Given the description of an element on the screen output the (x, y) to click on. 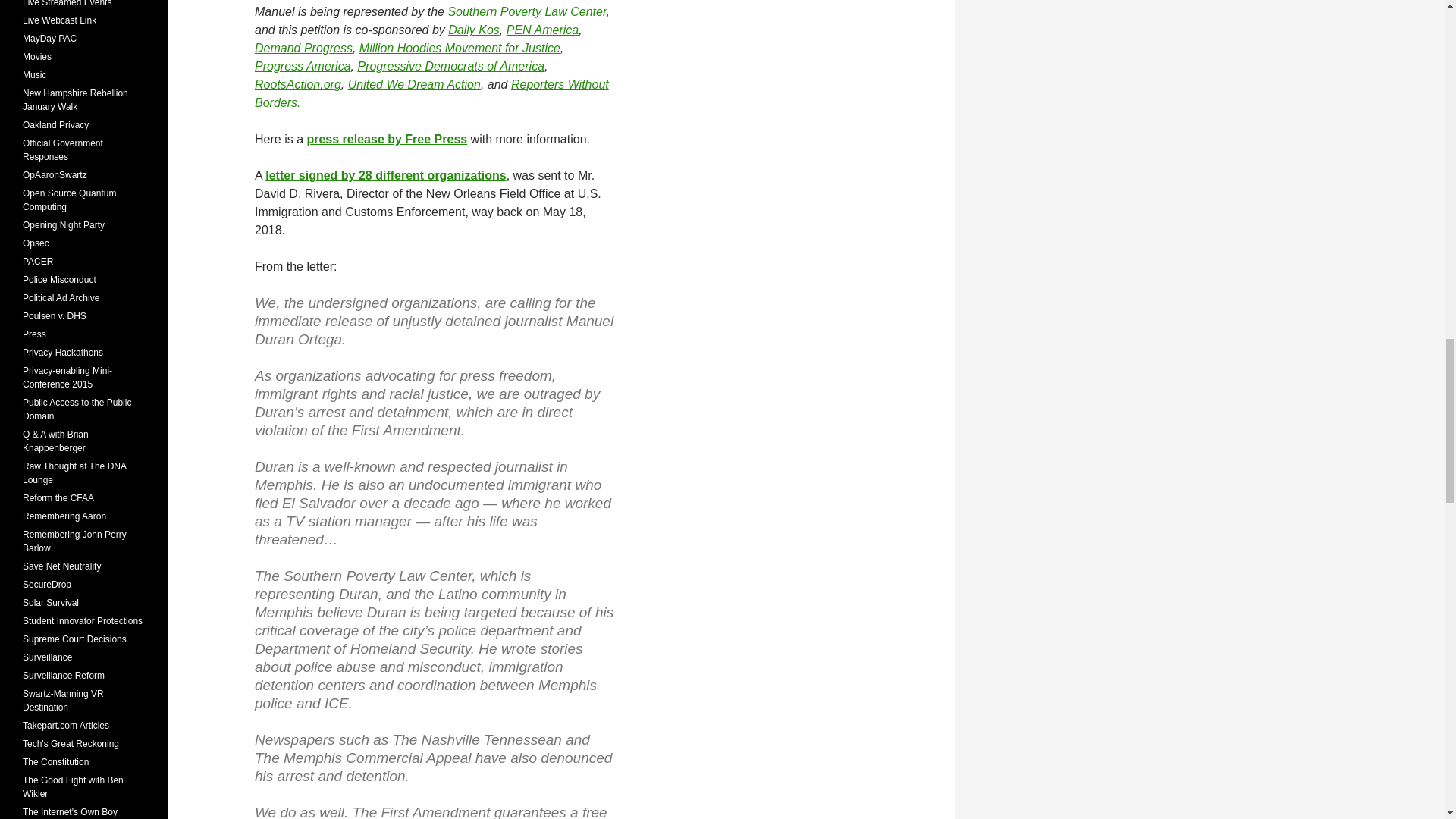
Southern Poverty Law Center (525, 11)
PEN America (542, 29)
RootsAction.org (297, 83)
Progressive Democrats of America (450, 65)
United We Dream Action (413, 83)
letter signed by 28 different organizations (384, 174)
Progress America (302, 65)
Daily Kos (473, 29)
Million Hoodies Movement for Justice (459, 47)
press release by Free Press (386, 138)
Demand Progress (303, 47)
Reporters Without Borders. (431, 92)
